Given the description of an element on the screen output the (x, y) to click on. 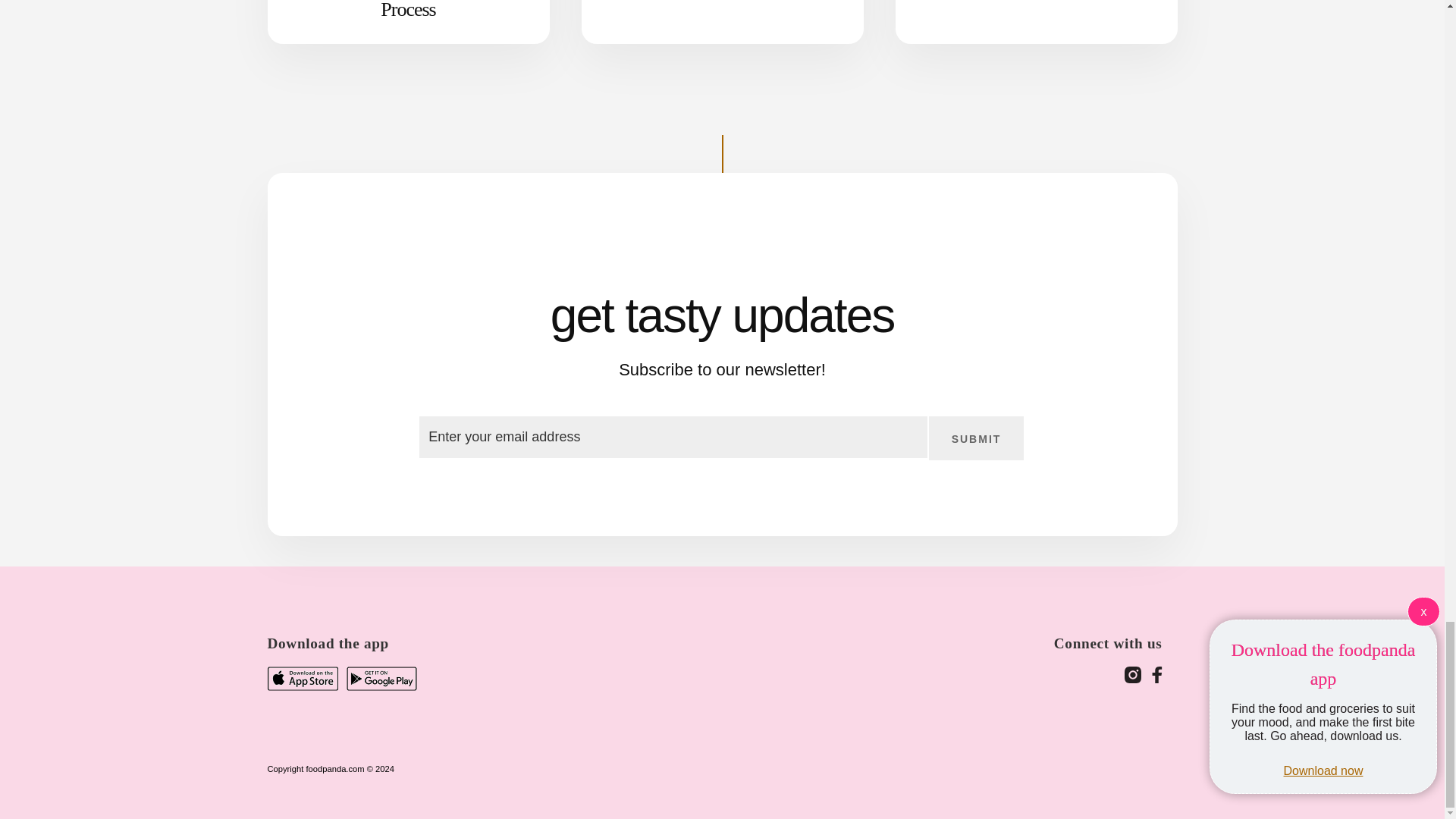
Download the app (334, 630)
Connect with us (1115, 630)
SUBMIT (976, 438)
